Given the description of an element on the screen output the (x, y) to click on. 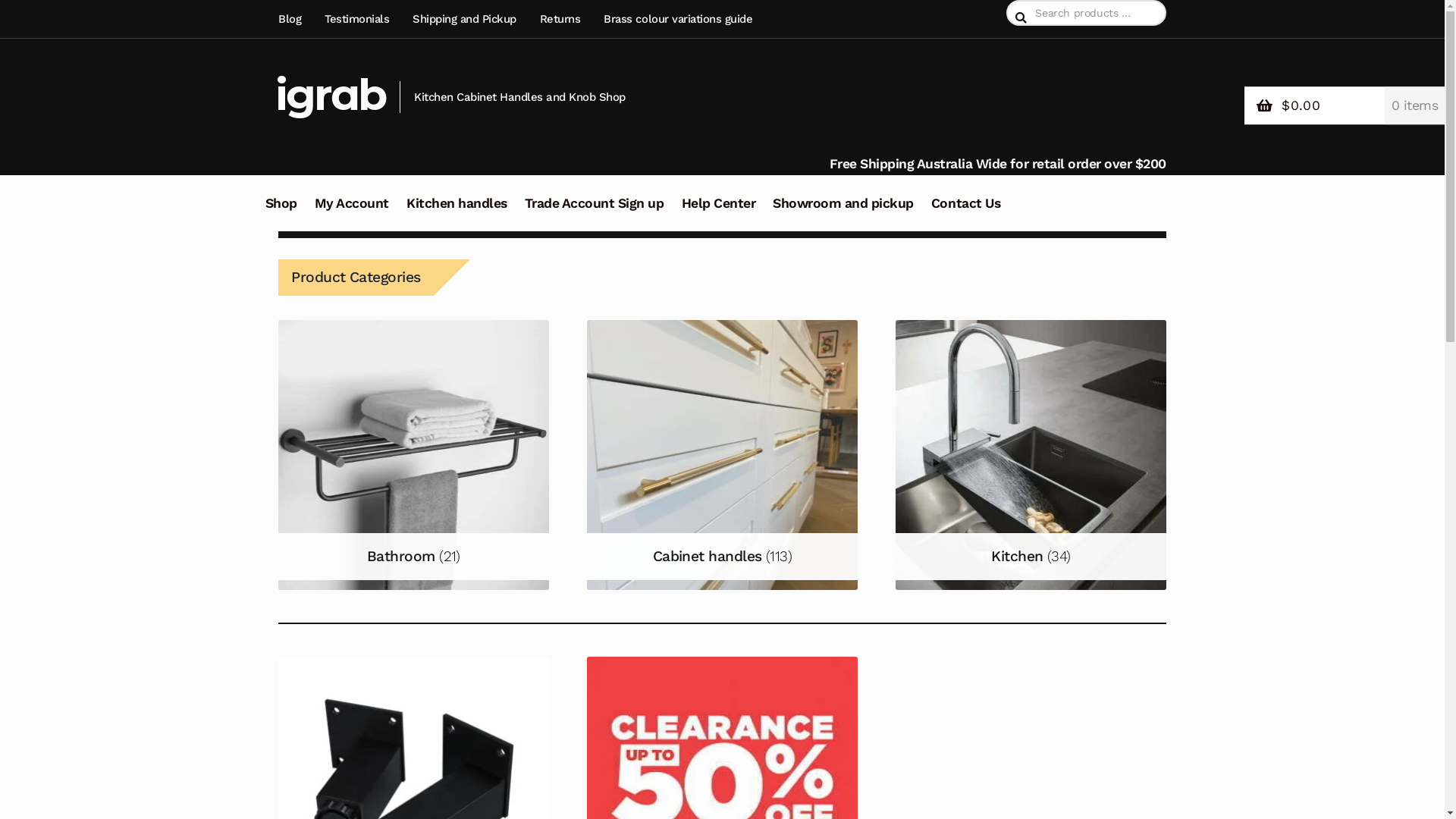
Testimonials Element type: text (357, 18)
Kitchen (34) Element type: text (1030, 454)
Cabinet handles (113) Element type: text (721, 454)
Showroom and pickup Element type: text (842, 211)
Contact Us Element type: text (965, 211)
Returns Element type: text (559, 18)
Trade Account Sign up Element type: text (593, 211)
Shop Element type: text (281, 211)
Help Center Element type: text (718, 211)
Shipping and Pickup Element type: text (464, 18)
igrab Element type: text (330, 94)
Brass colour variations guide Element type: text (678, 18)
My Account Element type: text (351, 211)
Blog Element type: text (294, 18)
Bathroom (21) Element type: text (413, 454)
Kitchen handles Element type: text (456, 211)
$0.00
0 items Element type: text (1344, 106)
